Given the description of an element on the screen output the (x, y) to click on. 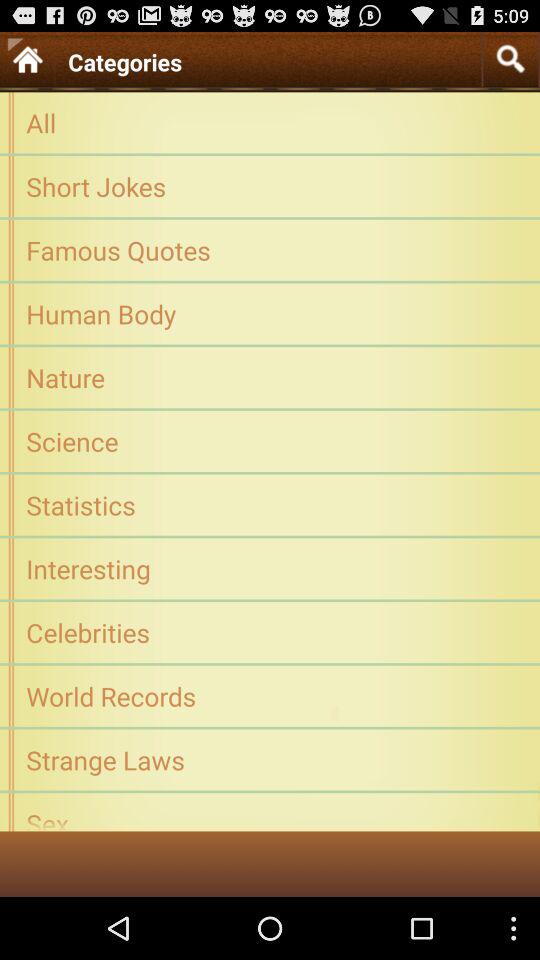
launch the icon above the human body app (270, 249)
